Given the description of an element on the screen output the (x, y) to click on. 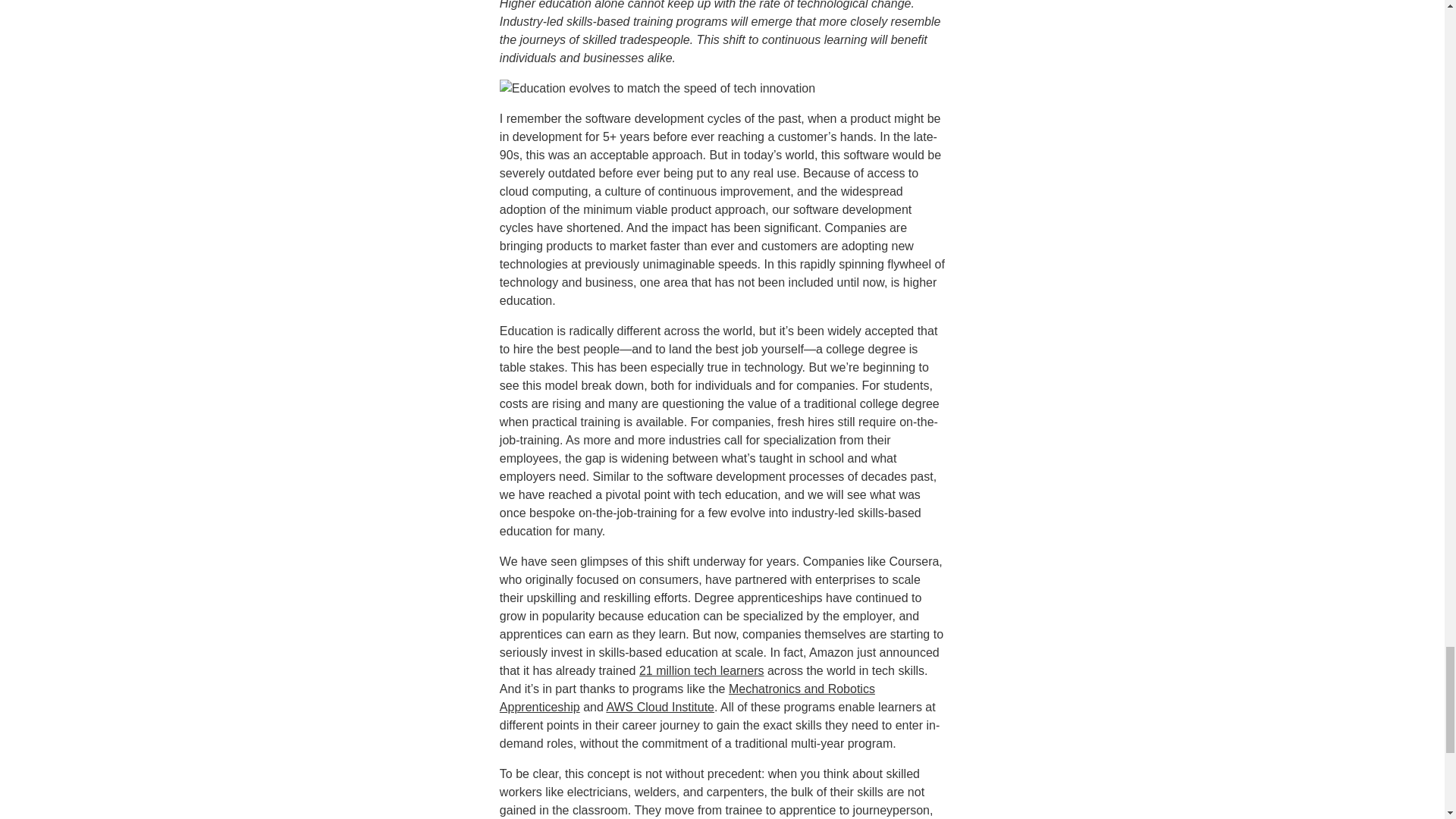
AWS Cloud Institute (659, 707)
21 million tech learners (701, 670)
Mechatronics and Robotics Apprenticeship (687, 697)
